Given the description of an element on the screen output the (x, y) to click on. 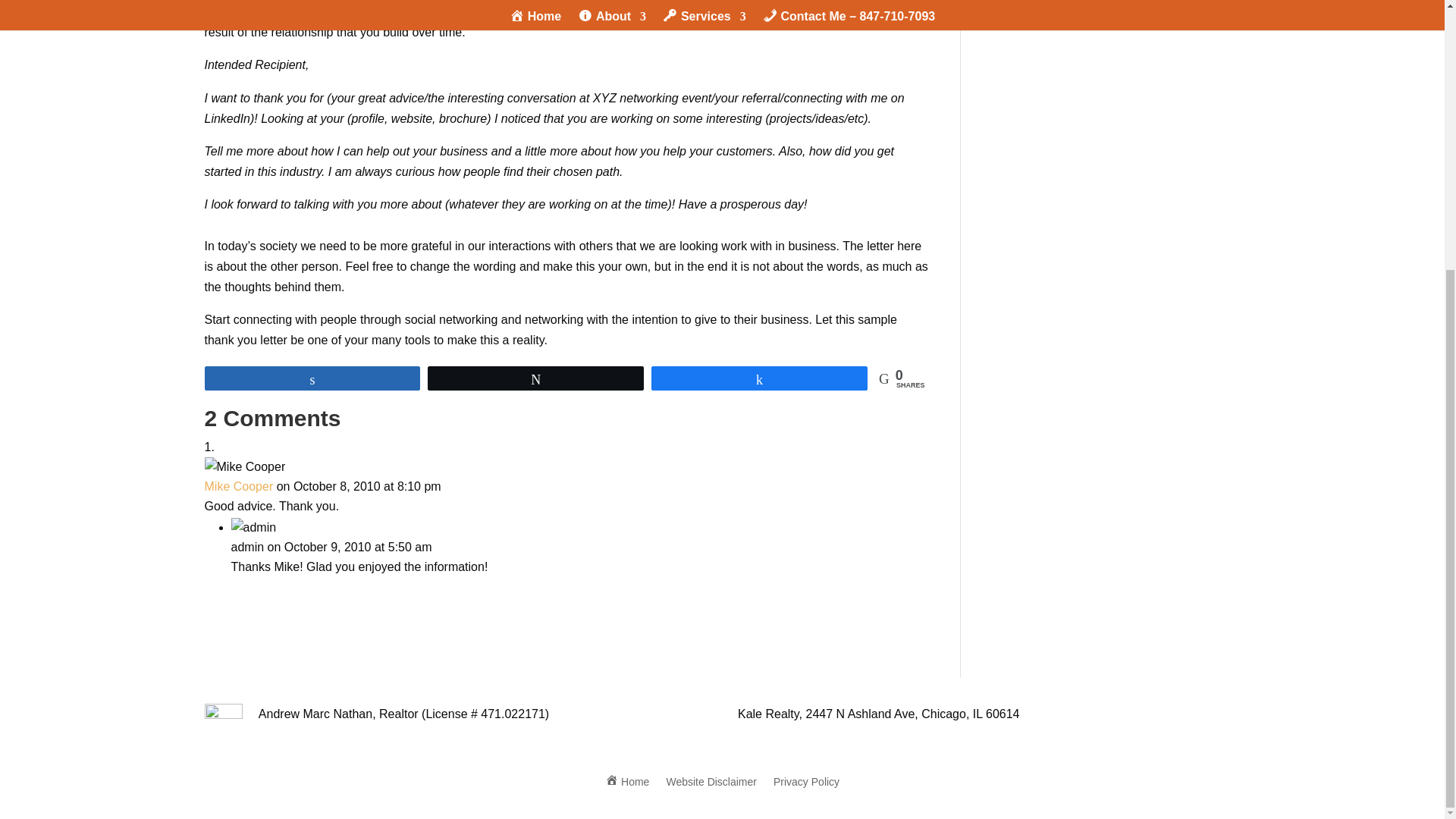
Website Disclaimer (711, 778)
Privacy Policy (806, 778)
Mike Cooper (239, 486)
Home (627, 778)
